Given the description of an element on the screen output the (x, y) to click on. 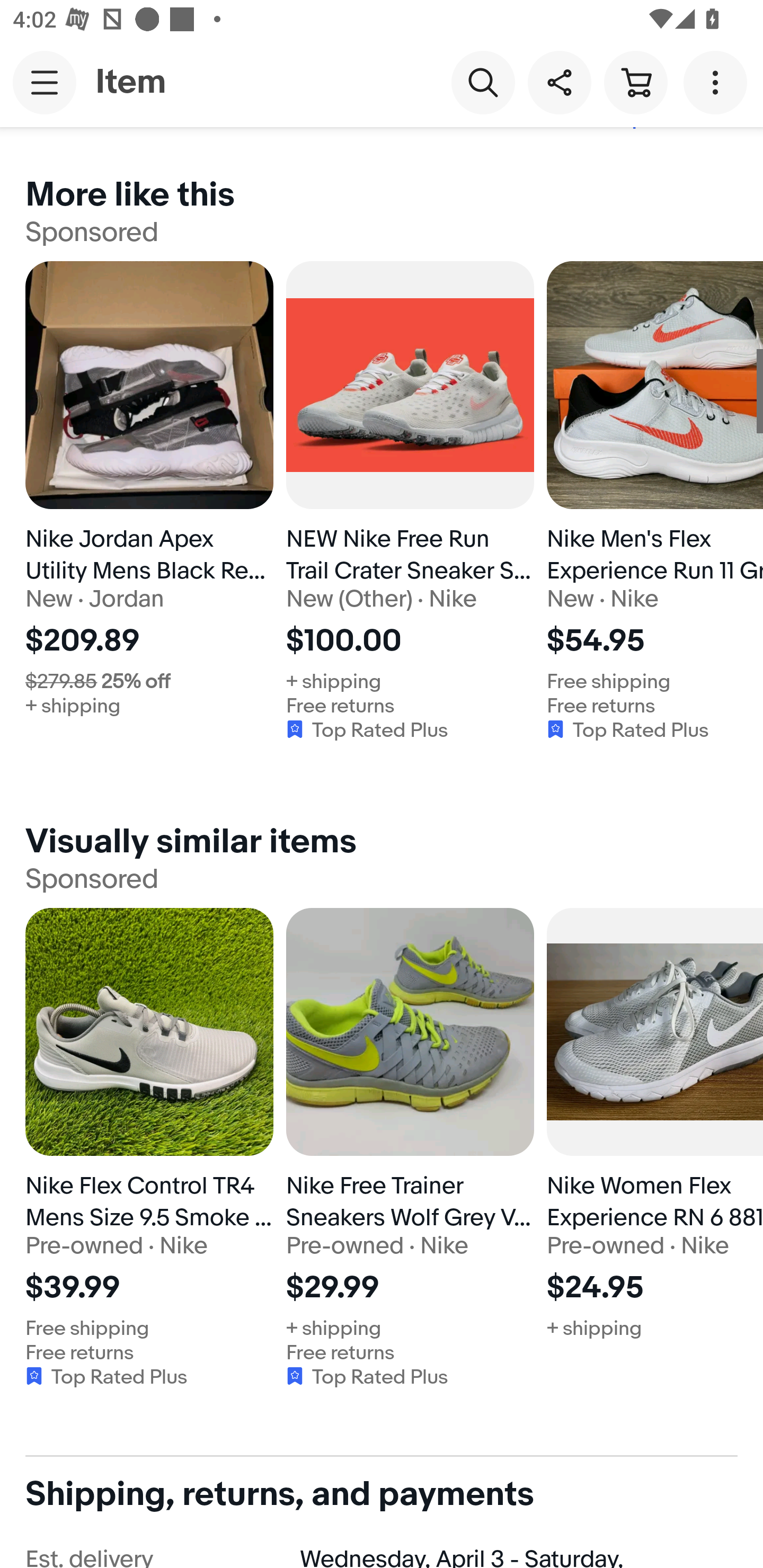
Main navigation, open (44, 82)
Search (482, 81)
Share this item (559, 81)
Cart button shopping cart (635, 81)
More options (718, 81)
